Given the description of an element on the screen output the (x, y) to click on. 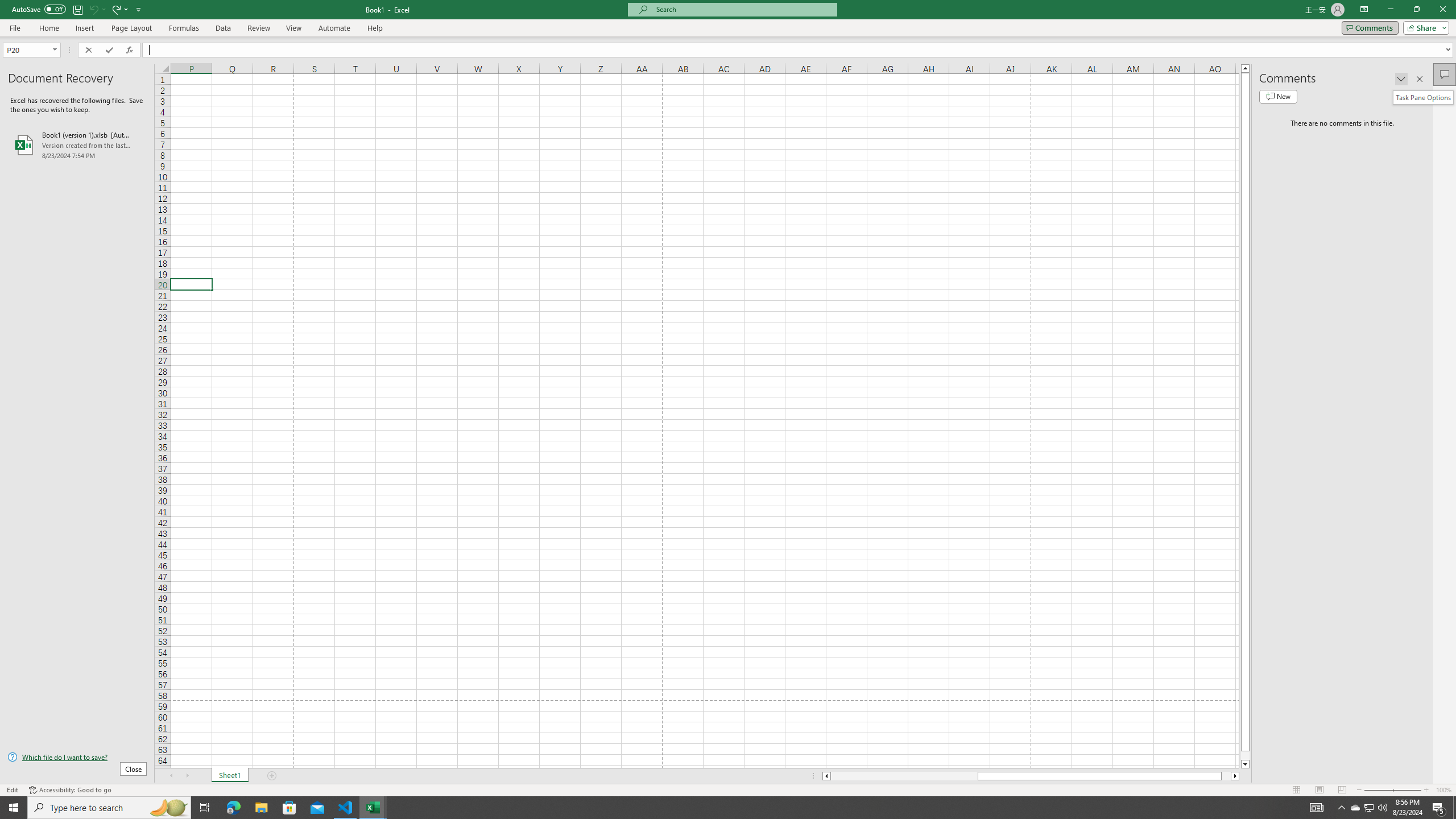
Automate (334, 28)
Restore Down (1416, 9)
Search (1444, 96)
Microsoft search (742, 9)
Formula Bar (799, 49)
